Given the description of an element on the screen output the (x, y) to click on. 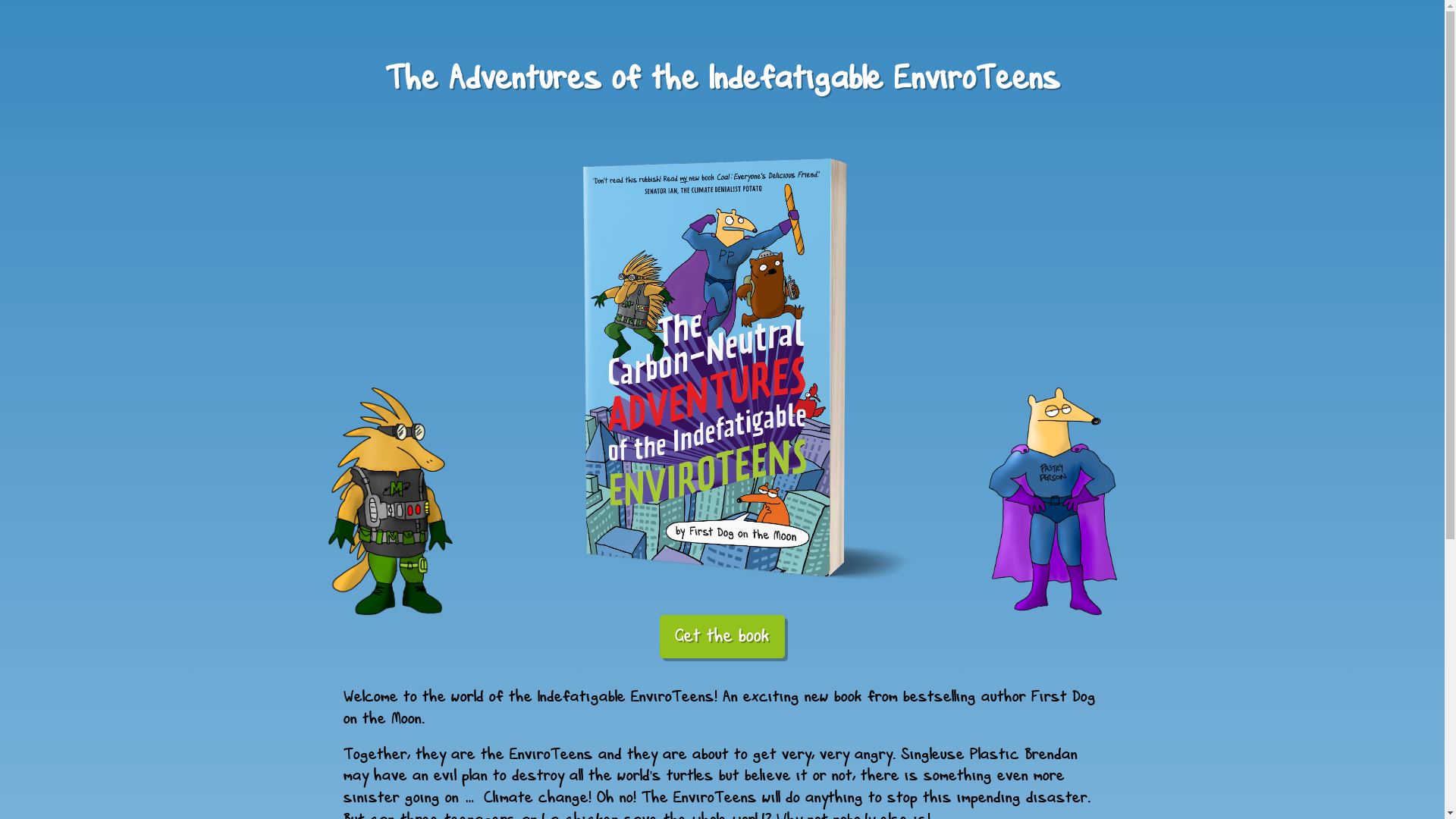
Get the book Element type: text (721, 636)
